Given the description of an element on the screen output the (x, y) to click on. 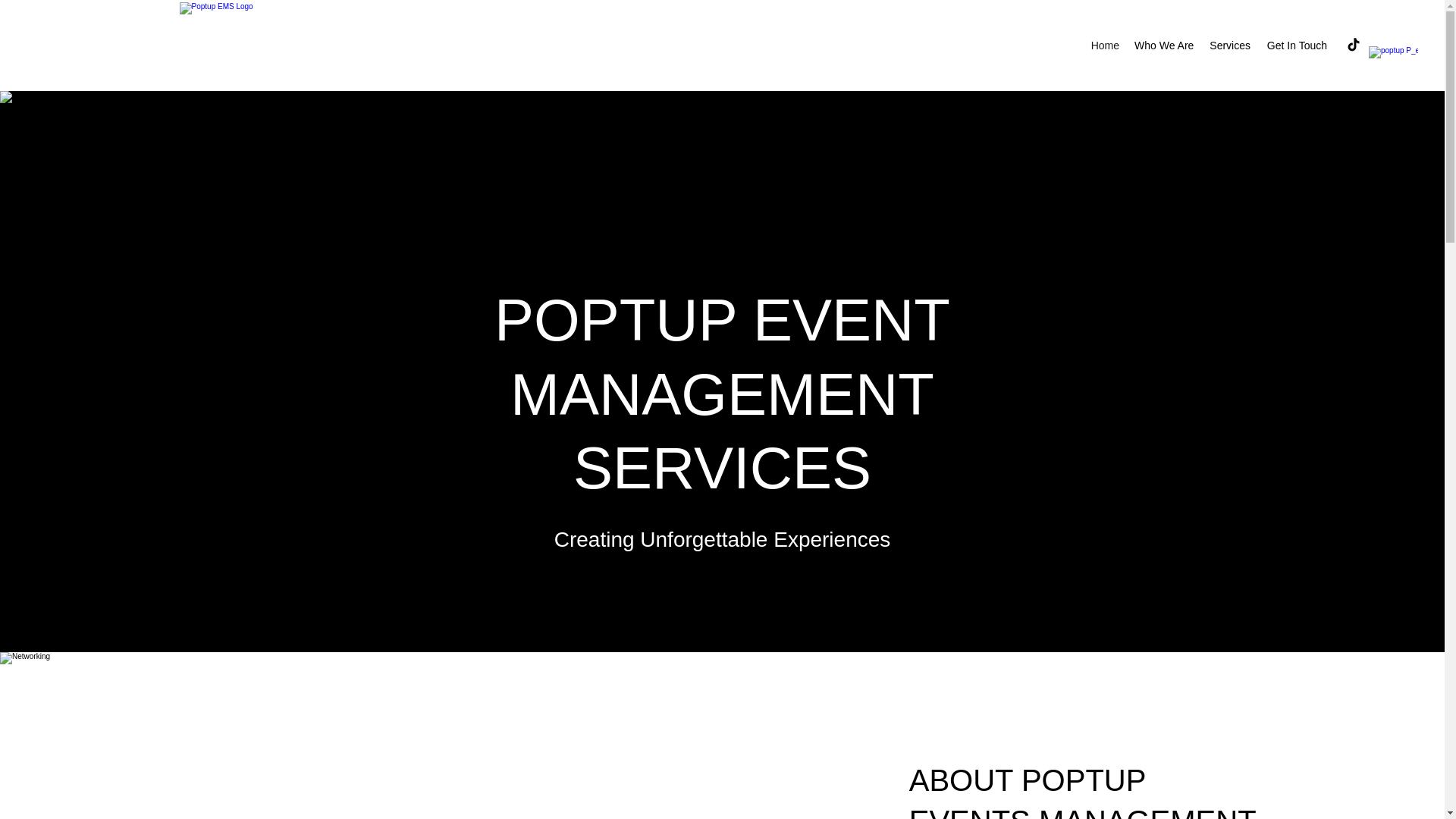
Home (1104, 45)
Who We Are (1163, 45)
Get In Touch (1296, 45)
Services (1229, 45)
